Given the description of an element on the screen output the (x, y) to click on. 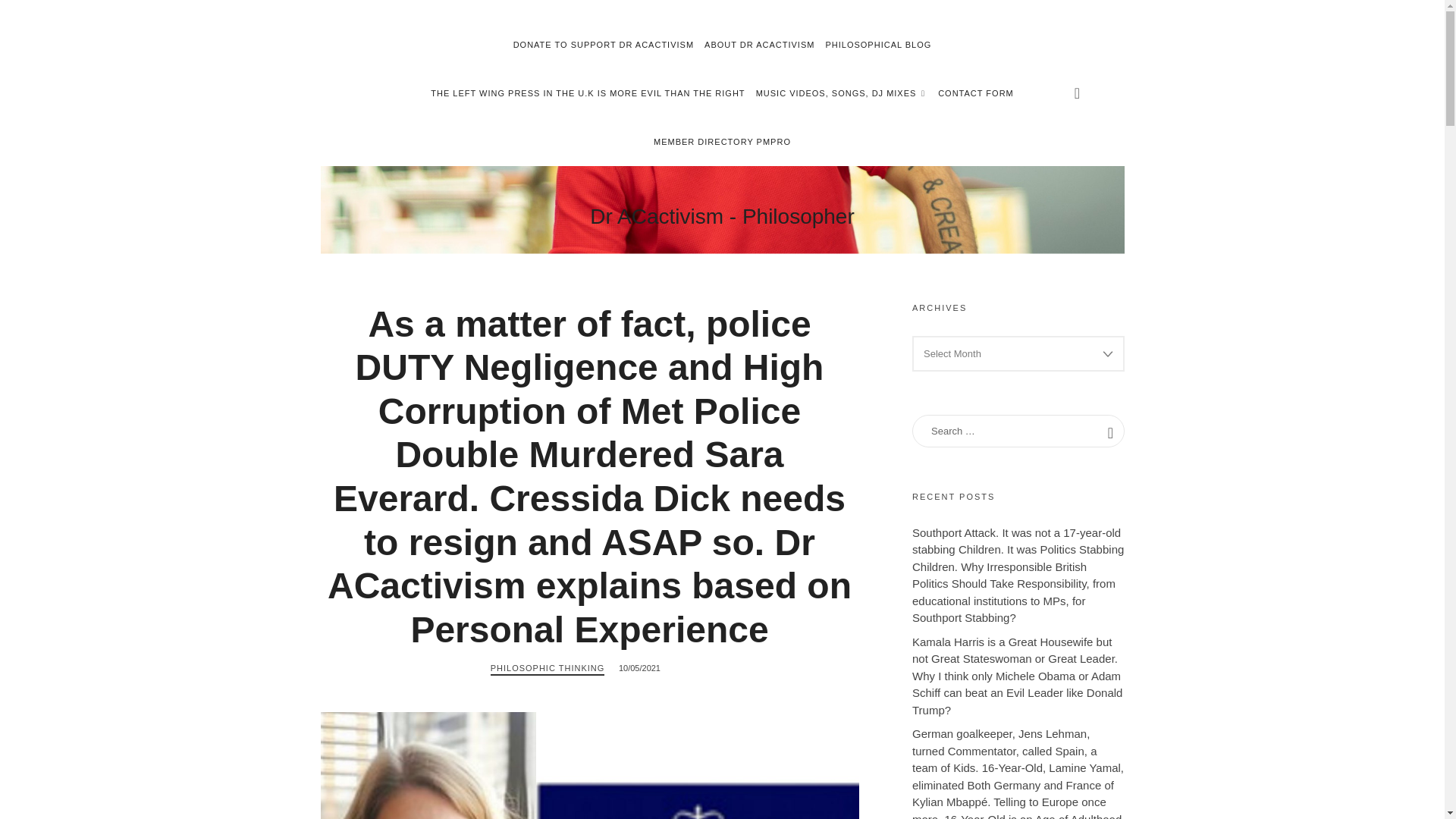
THE LEFT WING PRESS IN THE U.K IS MORE EVIL THAN THE RIGHT (587, 92)
PHILOSOPHICAL BLOG (878, 44)
MUSIC VIDEOS, SONGS, DJ MIXES (841, 92)
ABOUT DR ACACTIVISM (758, 44)
PHILOSOPHIC THINKING (547, 668)
CONTACT FORM (975, 92)
MEMBER DIRECTORY PMPRO (721, 215)
DONATE TO SUPPORT DR ACACTIVISM (721, 141)
